Given the description of an element on the screen output the (x, y) to click on. 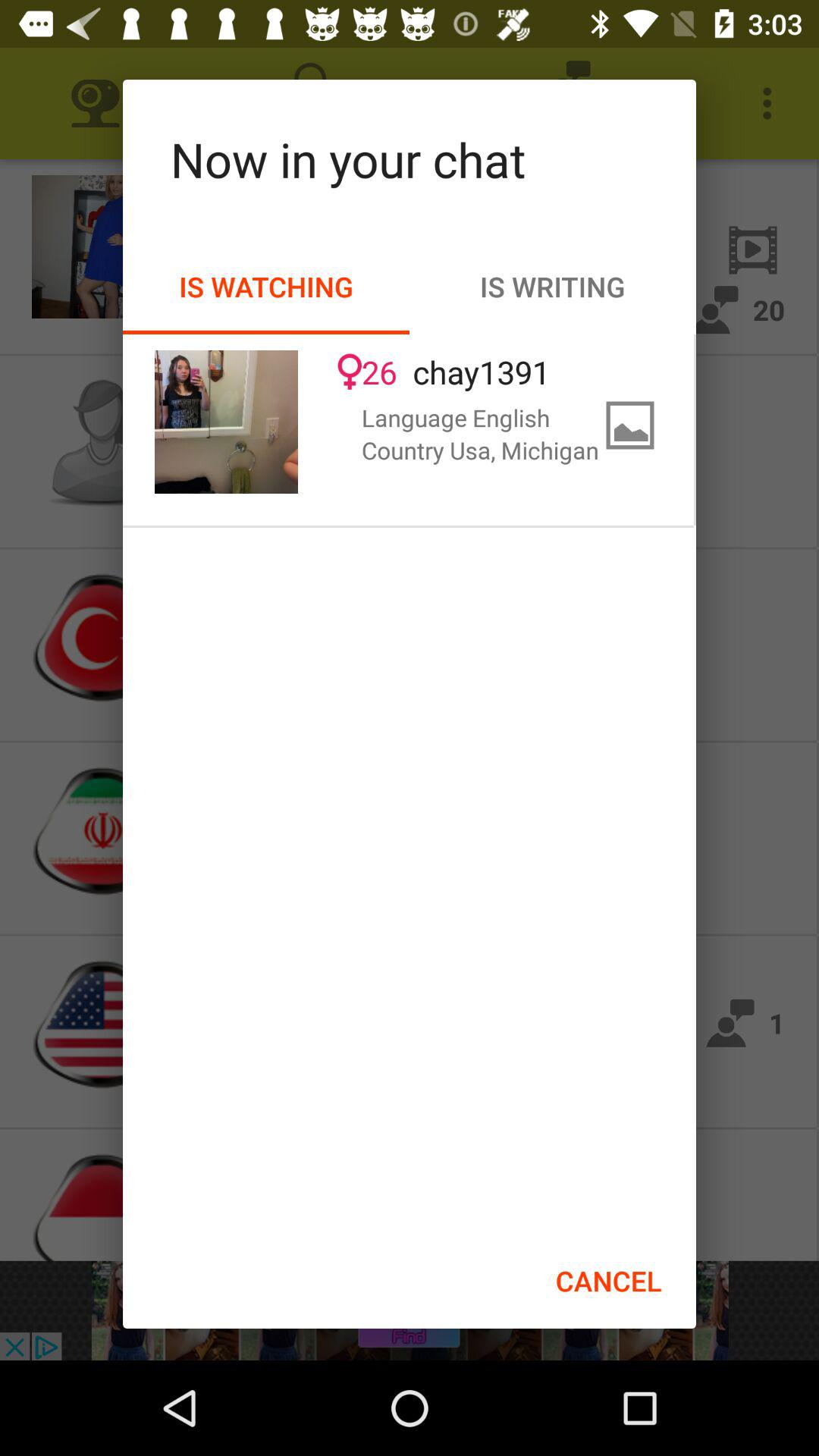
turn on cancel (608, 1280)
